Given the description of an element on the screen output the (x, y) to click on. 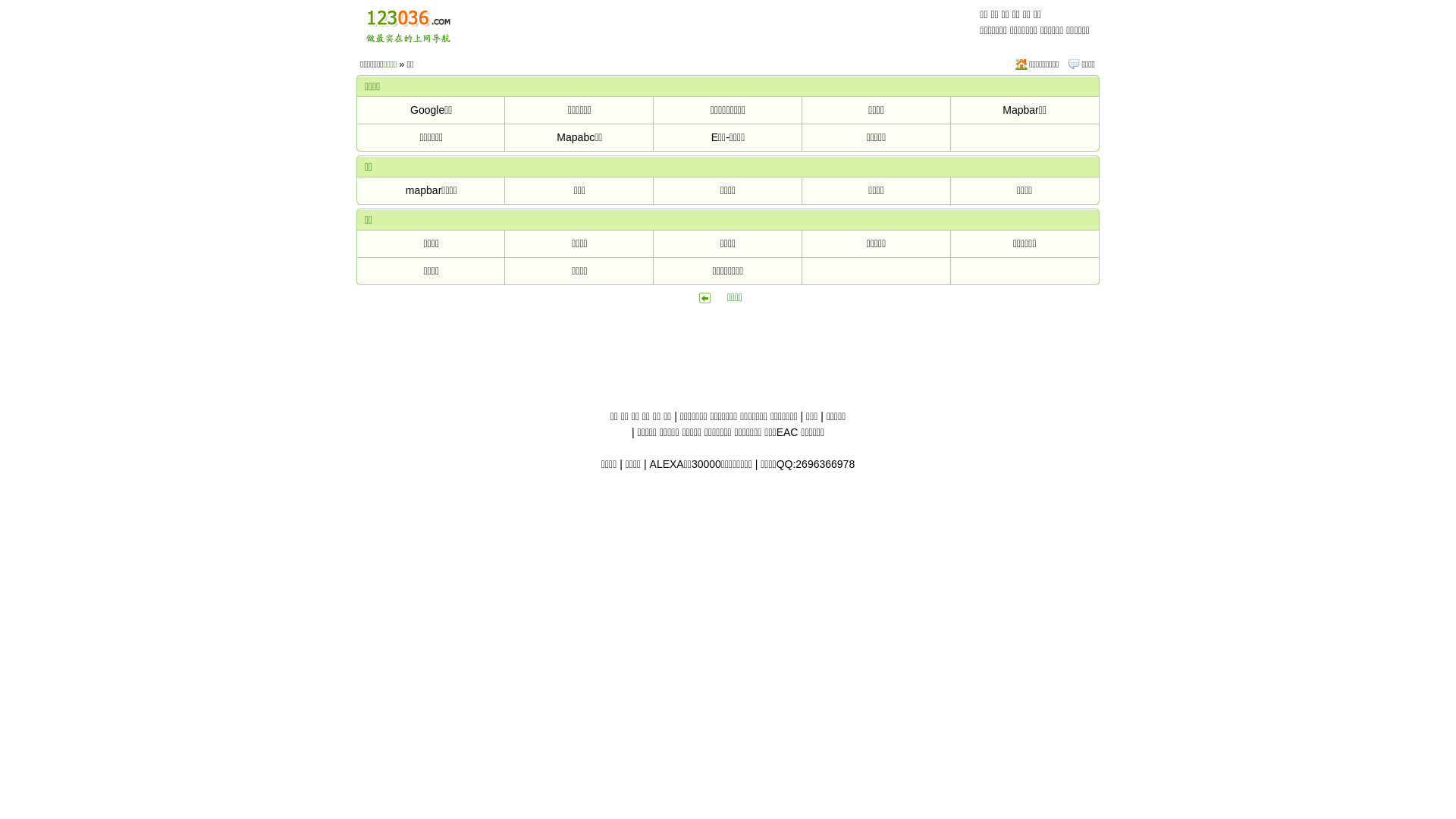
Advertisement Element type: hover (727, 334)
Advertisement Element type: hover (727, 374)
Advertisement Element type: hover (770, 22)
